Given the description of an element on the screen output the (x, y) to click on. 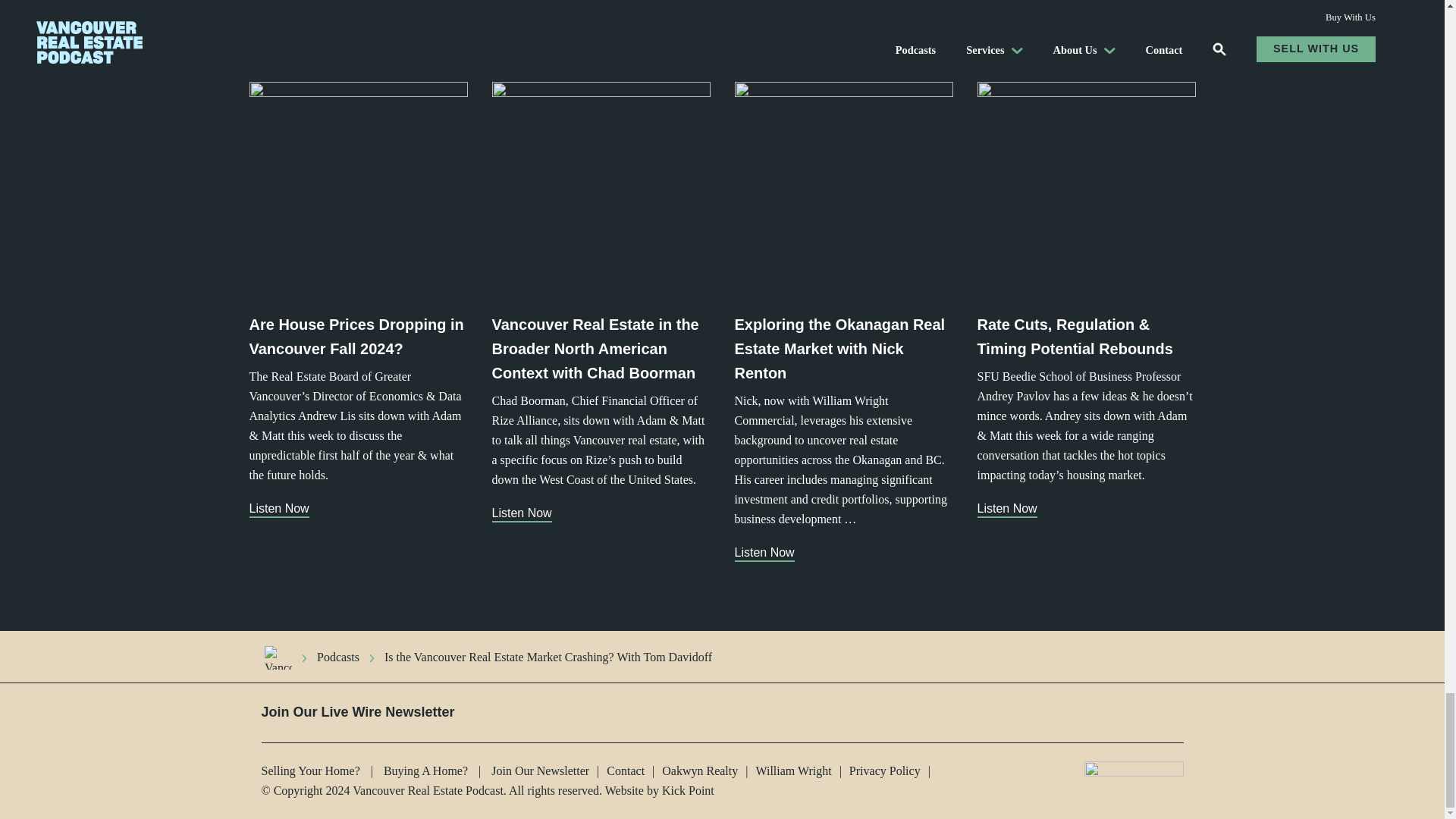
Are House Prices Dropping in Vancouver Fall 2024? (1172, 48)
Vancouver Real Estate Podcast (357, 336)
Listen Now (278, 657)
Listen Now (278, 509)
Exploring the Okanagan Real Estate Market with Nick Renton (521, 514)
